Given the description of an element on the screen output the (x, y) to click on. 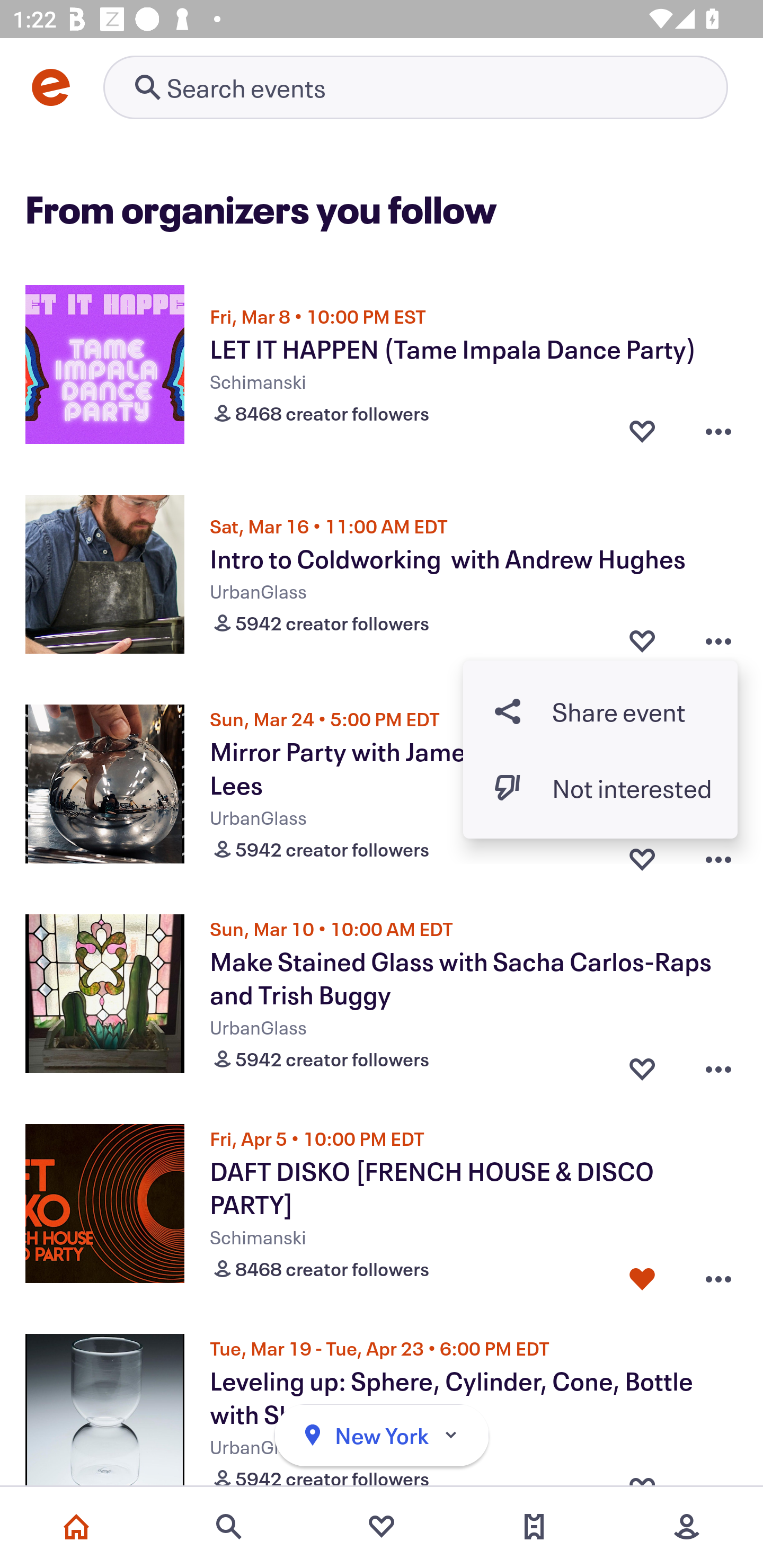
Share button Share event (600, 710)
Dislike event button Not interested (600, 787)
